Given the description of an element on the screen output the (x, y) to click on. 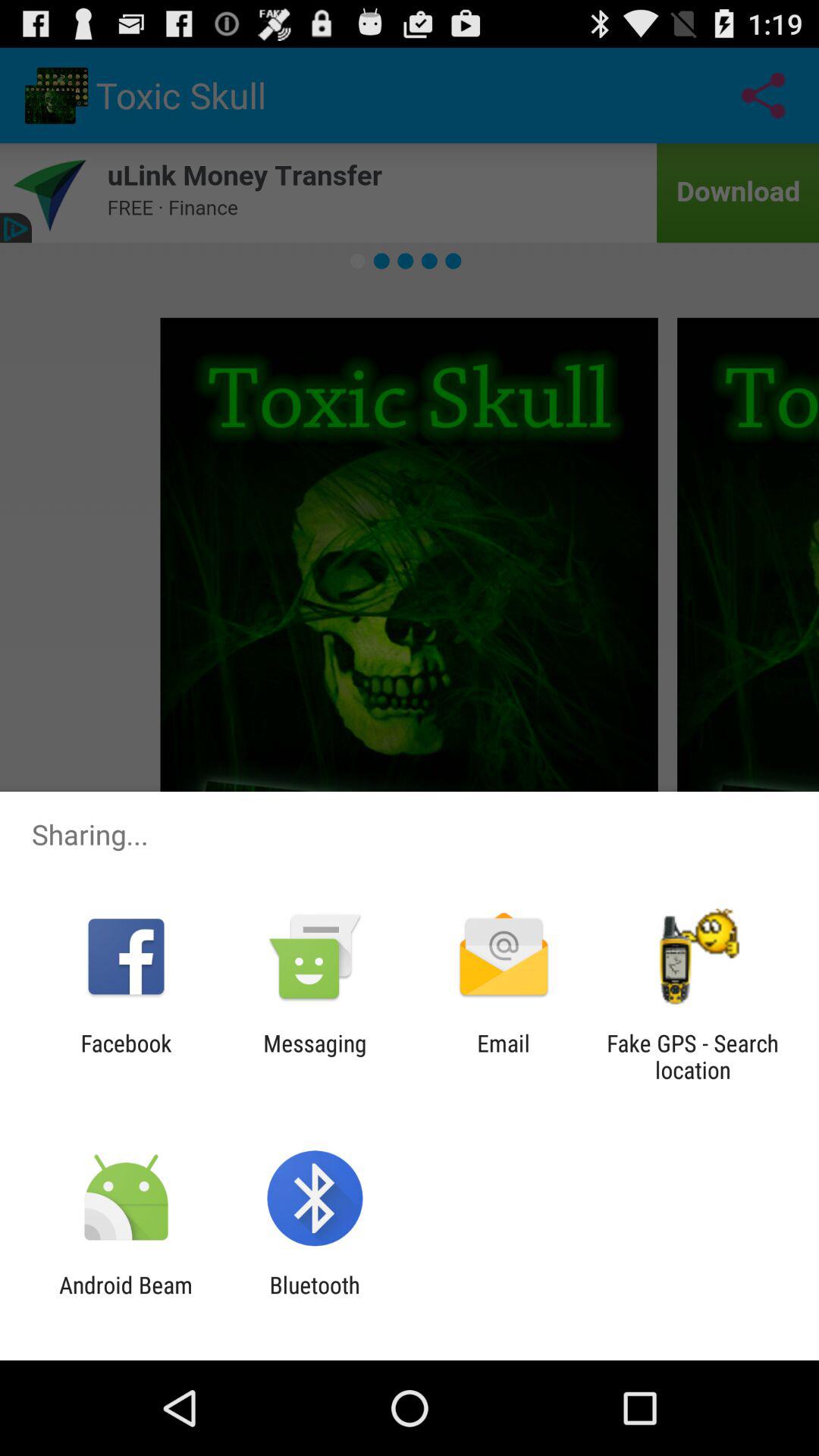
jump to the email (503, 1056)
